Given the description of an element on the screen output the (x, y) to click on. 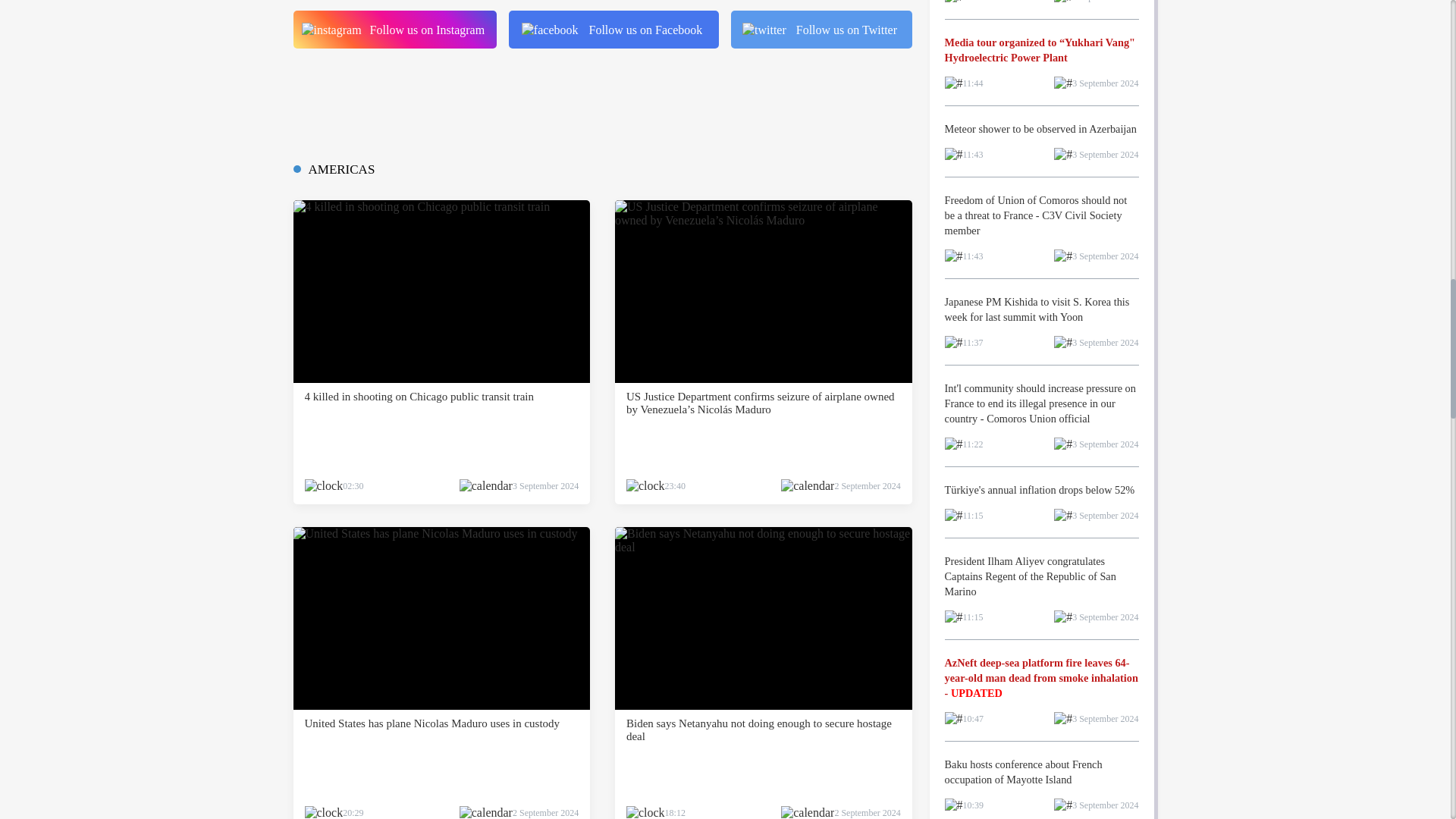
Follow us on Instagram (394, 29)
Follow us on Twitter (821, 29)
Follow us on Facebook (613, 29)
